Given the description of an element on the screen output the (x, y) to click on. 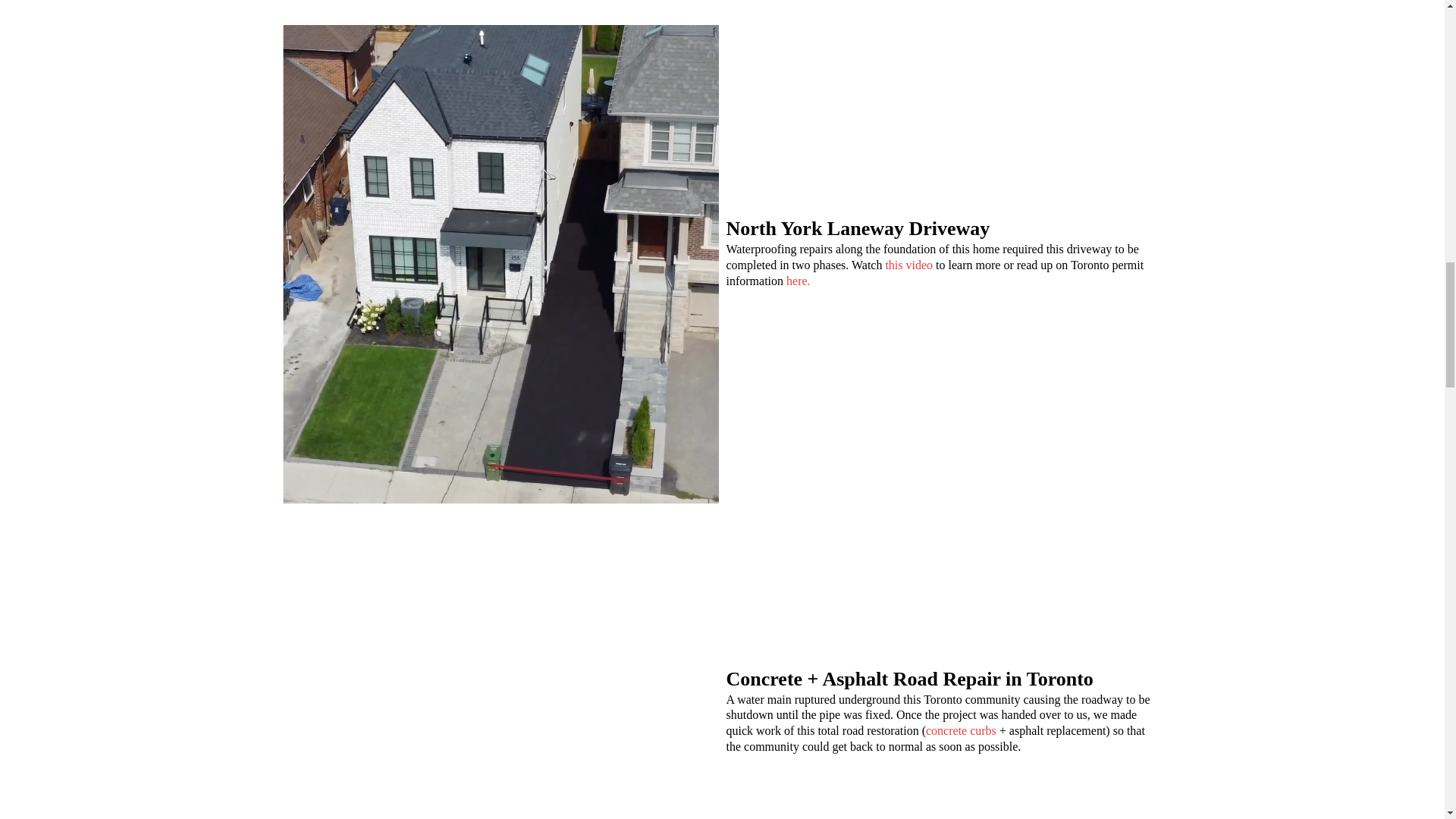
this video (909, 264)
here. (798, 280)
concrete curbs (960, 730)
